Given the description of an element on the screen output the (x, y) to click on. 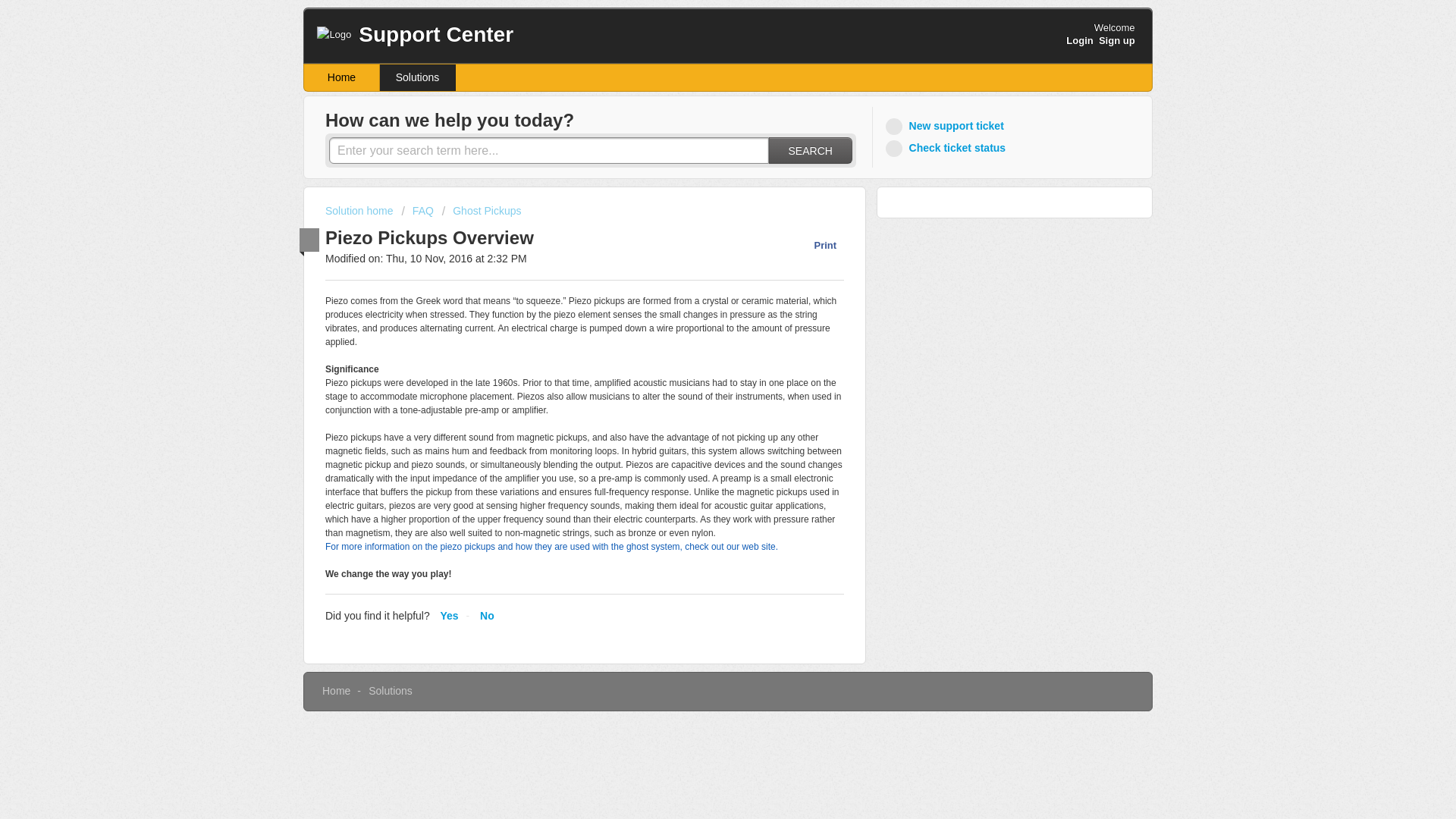
Solution home (360, 210)
Sign up (1117, 40)
Print (818, 244)
Print this Article (818, 244)
New support ticket (946, 126)
Solutions (417, 77)
Home (335, 690)
FAQ (416, 210)
Check ticket status (947, 147)
